Given the description of an element on the screen output the (x, y) to click on. 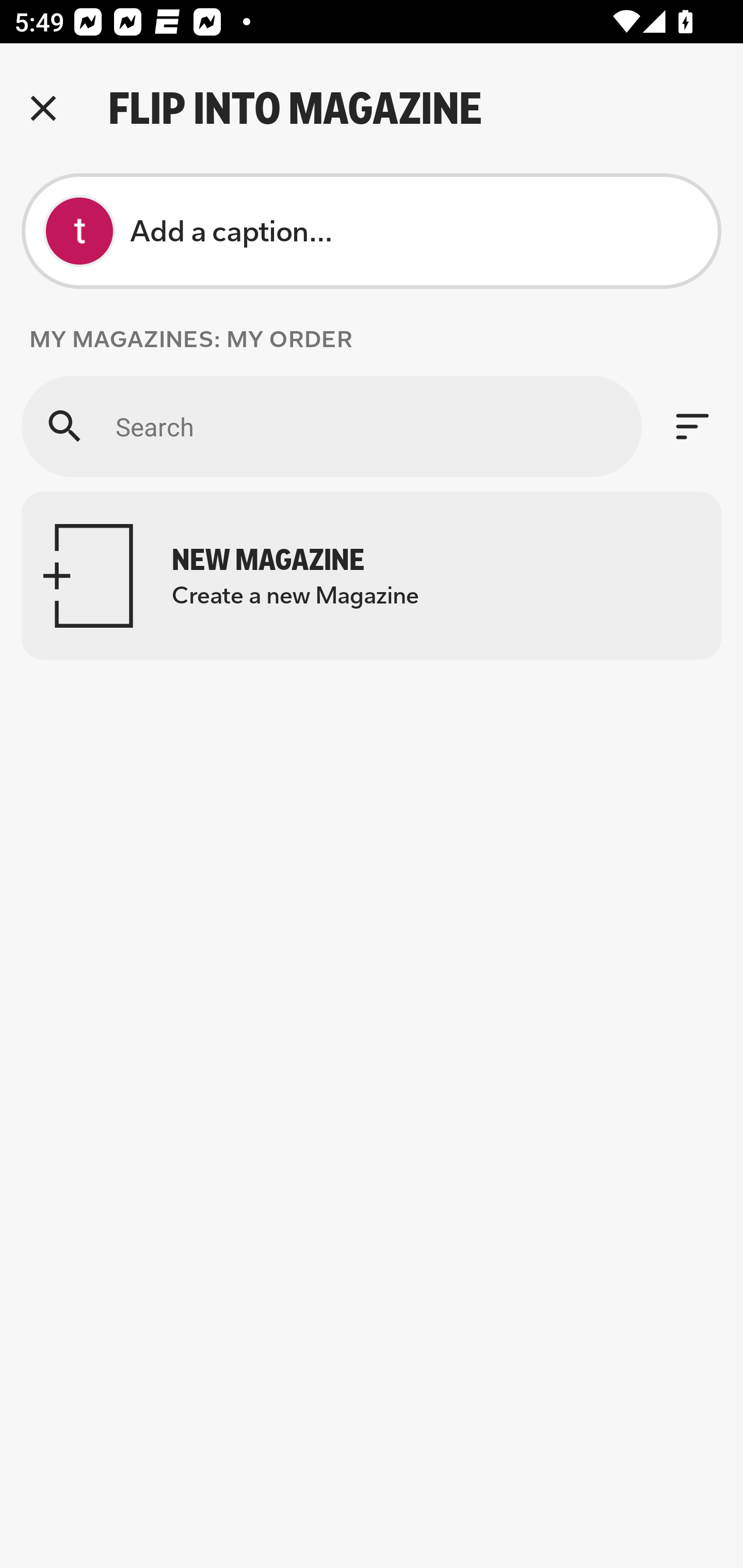
test appium Add a caption… (371, 231)
Search (331, 426)
NEW MAGAZINE Create a new Magazine (371, 575)
